Given the description of an element on the screen output the (x, y) to click on. 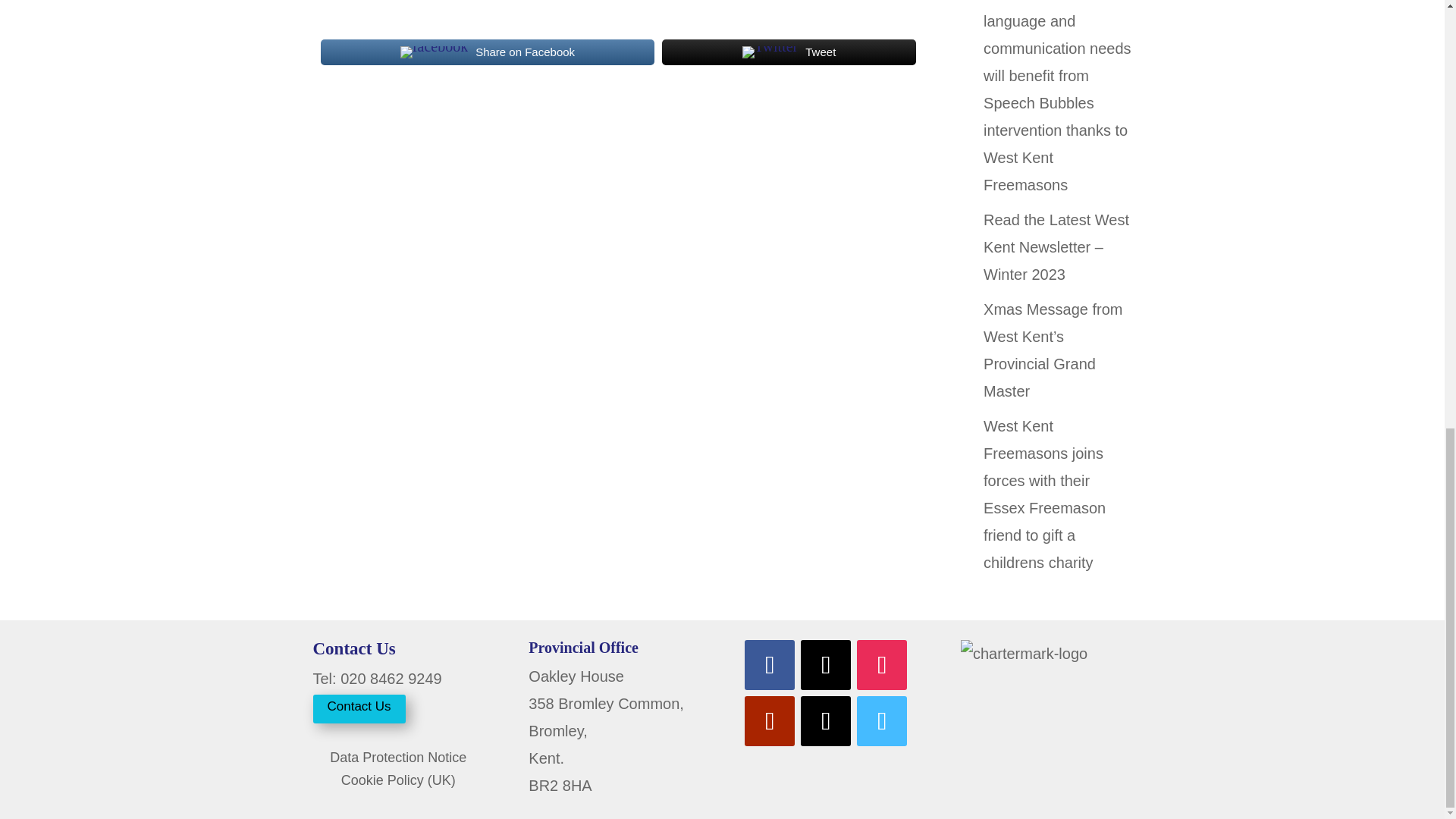
Follow on Vimeo (882, 721)
Follow on TikTok (825, 721)
Follow on Facebook (769, 664)
Follow on X (825, 664)
Follow on Instagram (882, 664)
Follow on Youtube (769, 721)
